Given the description of an element on the screen output the (x, y) to click on. 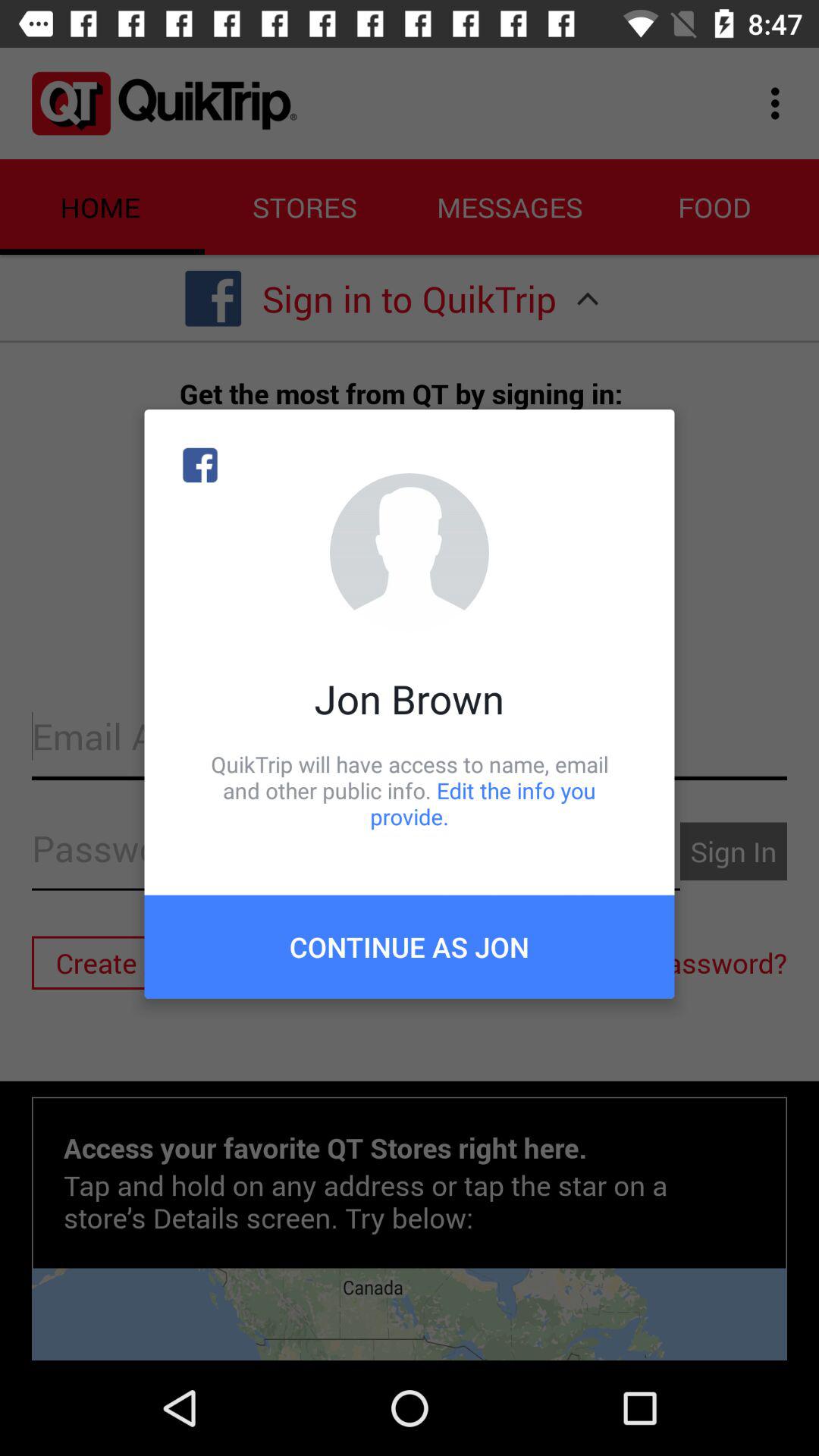
jump to quiktrip will have item (409, 790)
